Given the description of an element on the screen output the (x, y) to click on. 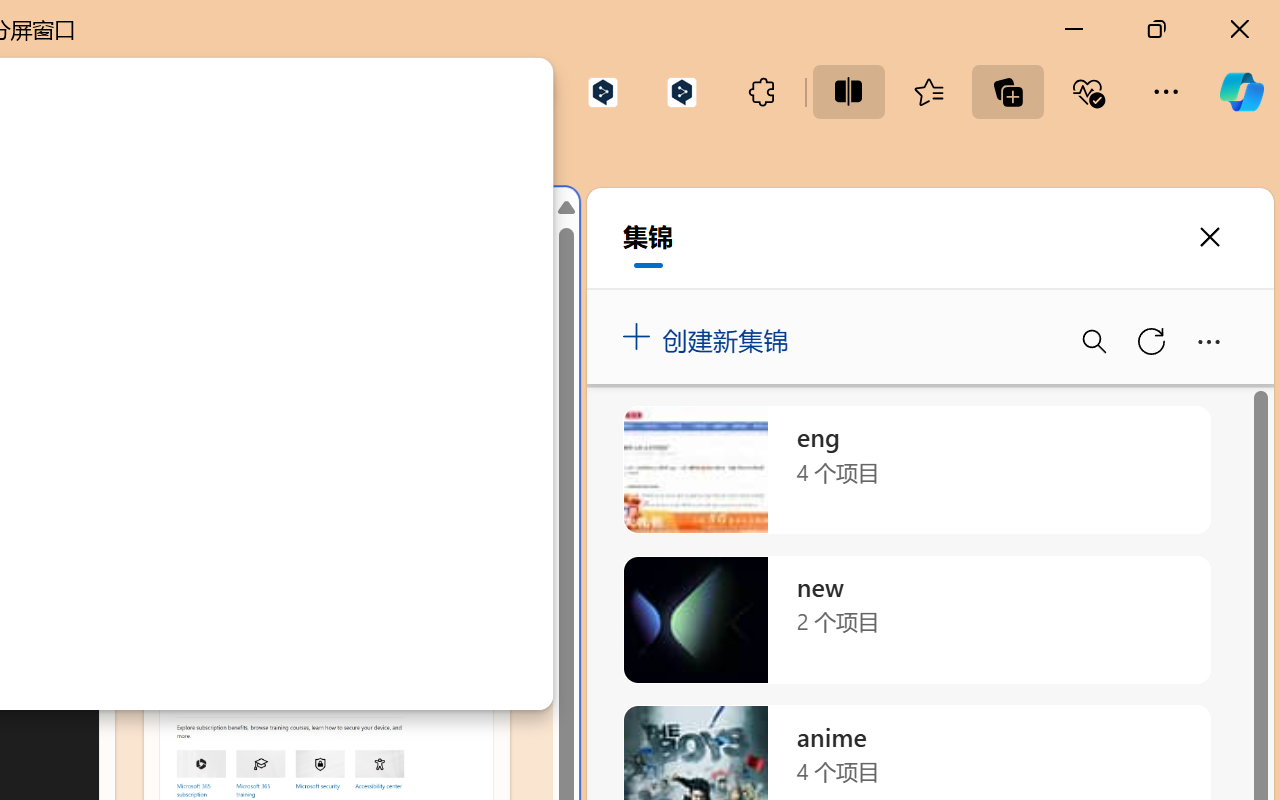
Copilot (Ctrl+Shift+.) (1241, 91)
